Given the description of an element on the screen output the (x, y) to click on. 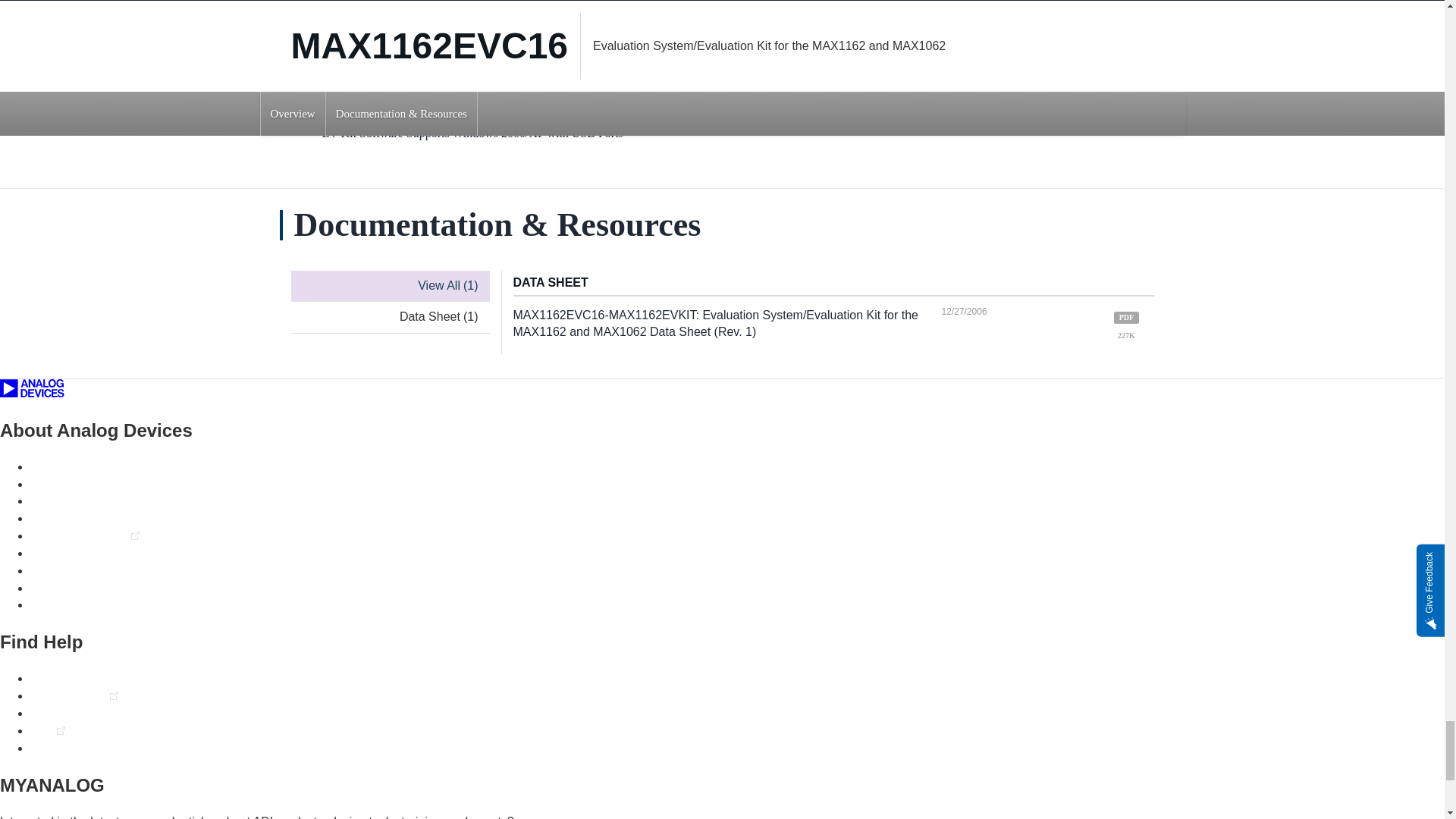
Who We Are (64, 466)
Investor Relations (79, 535)
Newsroom (58, 500)
Sales and Distribution (89, 570)
Product Details (599, 15)
Features and Benefits (408, 15)
Careers (52, 483)
